Given the description of an element on the screen output the (x, y) to click on. 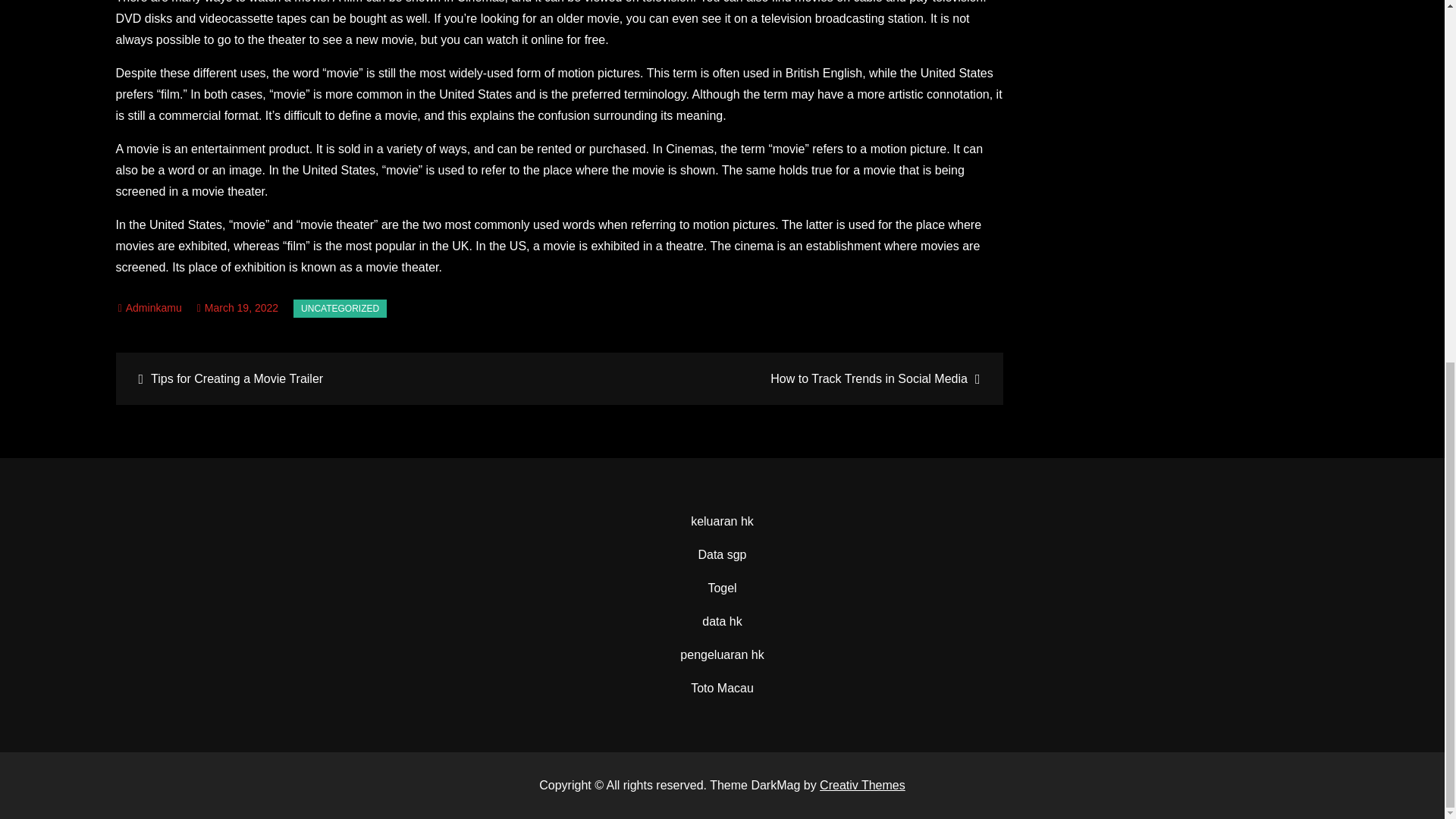
Toto Macau (722, 687)
March 19, 2022 (237, 307)
pengeluaran hk (720, 654)
Tips for Creating a Movie Trailer (339, 378)
Data sgp (721, 554)
keluaran hk (722, 521)
data hk (721, 621)
How to Track Trends in Social Media (778, 378)
UNCATEGORIZED (340, 308)
Creativ Themes (862, 784)
